Given the description of an element on the screen output the (x, y) to click on. 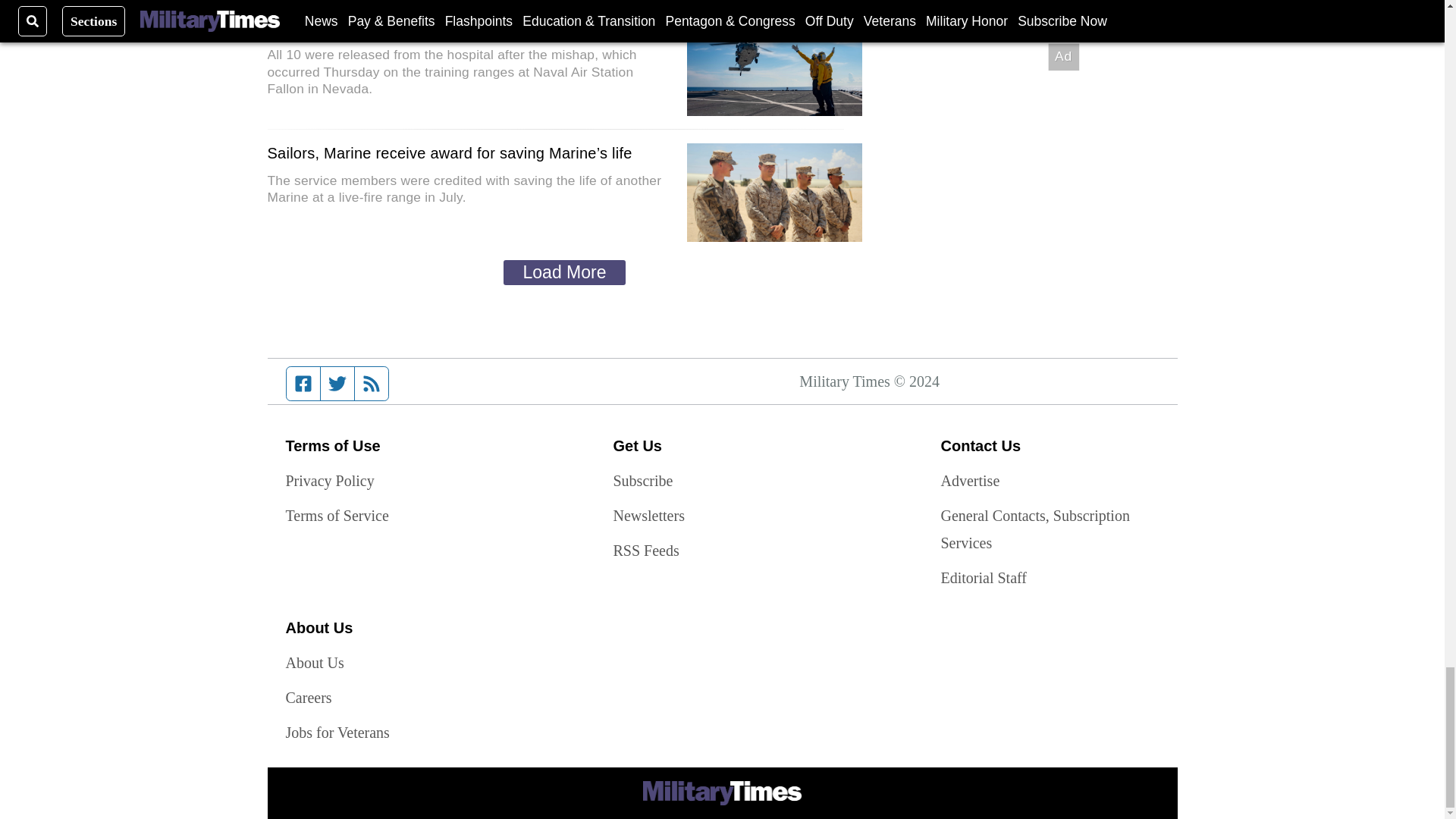
RSS feed (371, 383)
Twitter feed (336, 383)
Facebook page (303, 383)
